Given the description of an element on the screen output the (x, y) to click on. 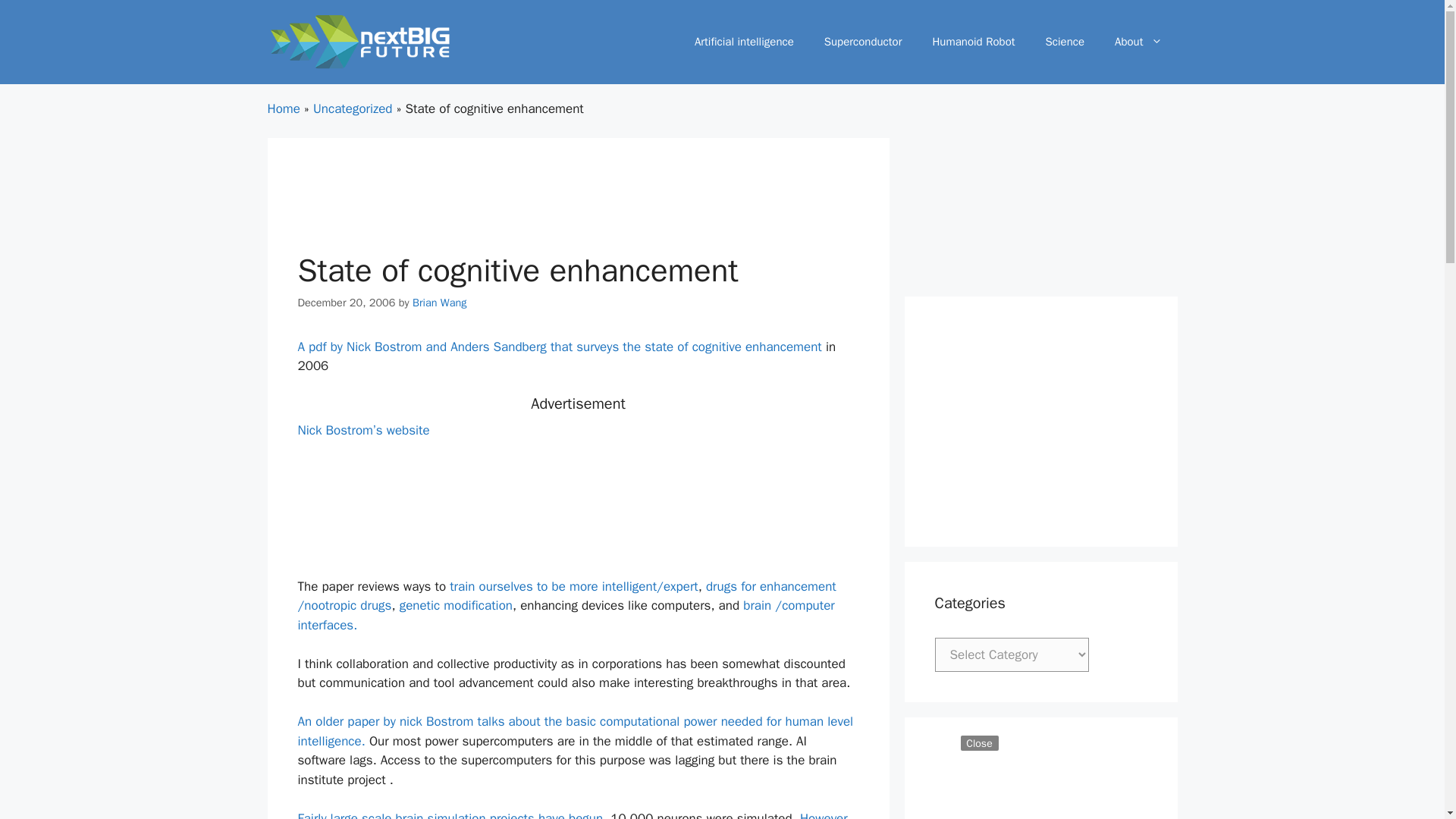
3rd party ad content (1040, 421)
Superconductor (863, 41)
3rd party ad content (577, 504)
Fairly large scale brain simulation projects have begun. (452, 814)
3rd party ad content (721, 785)
genetic modification (455, 605)
Home (282, 108)
3rd party ad content (577, 210)
About (1137, 41)
Artificial intelligence (744, 41)
Uncategorized (353, 108)
Science (1065, 41)
3rd party ad content (1040, 783)
